Given the description of an element on the screen output the (x, y) to click on. 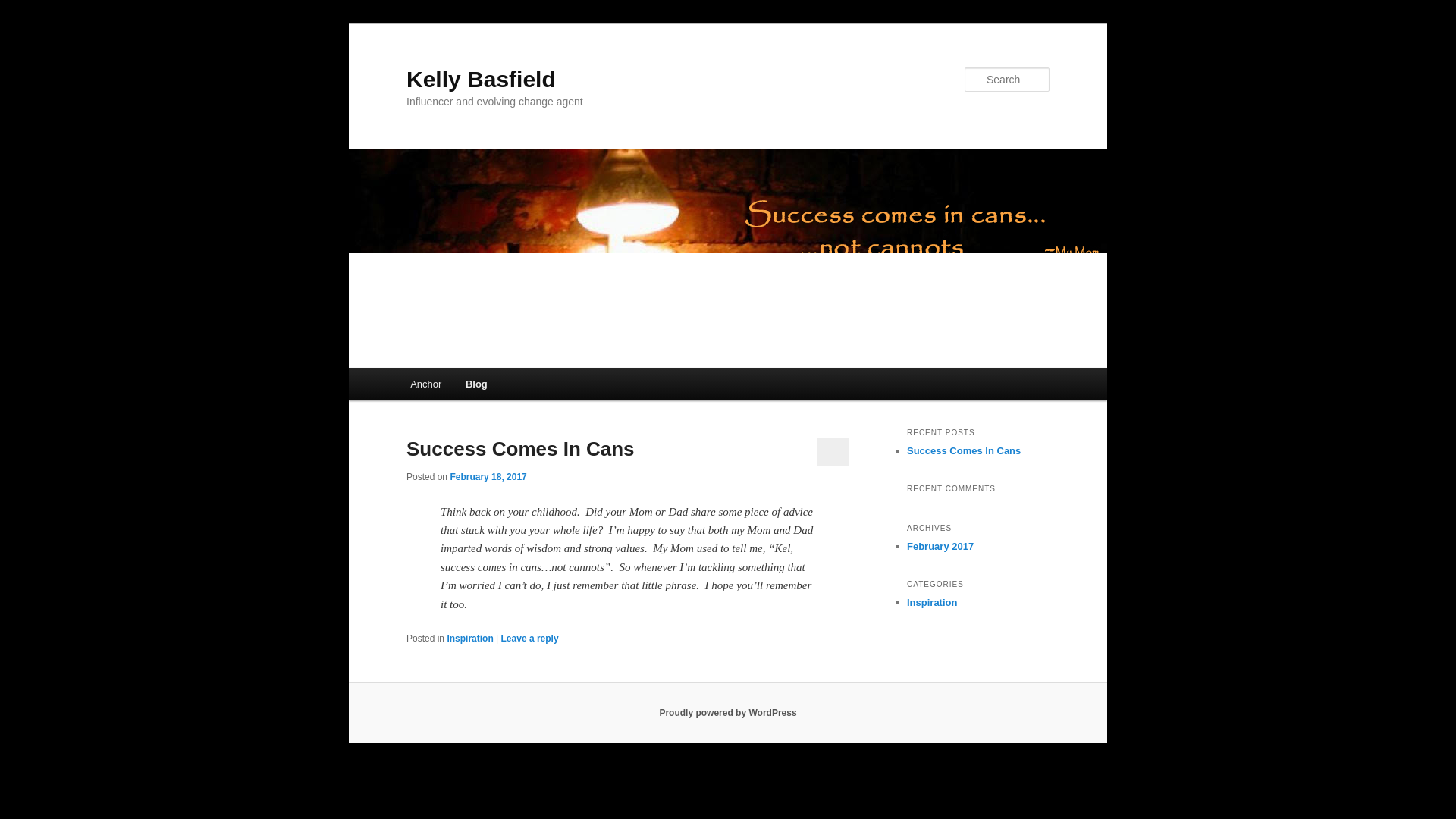
Inspiration (931, 602)
Success Comes In Cans (963, 450)
Inspiration (931, 602)
Leave a reply (529, 638)
February 18, 2017 (487, 476)
6:27 pm (487, 476)
Kelly Basfield (481, 78)
Success Comes In Cans (520, 448)
Inspiration (469, 638)
